Given the description of an element on the screen output the (x, y) to click on. 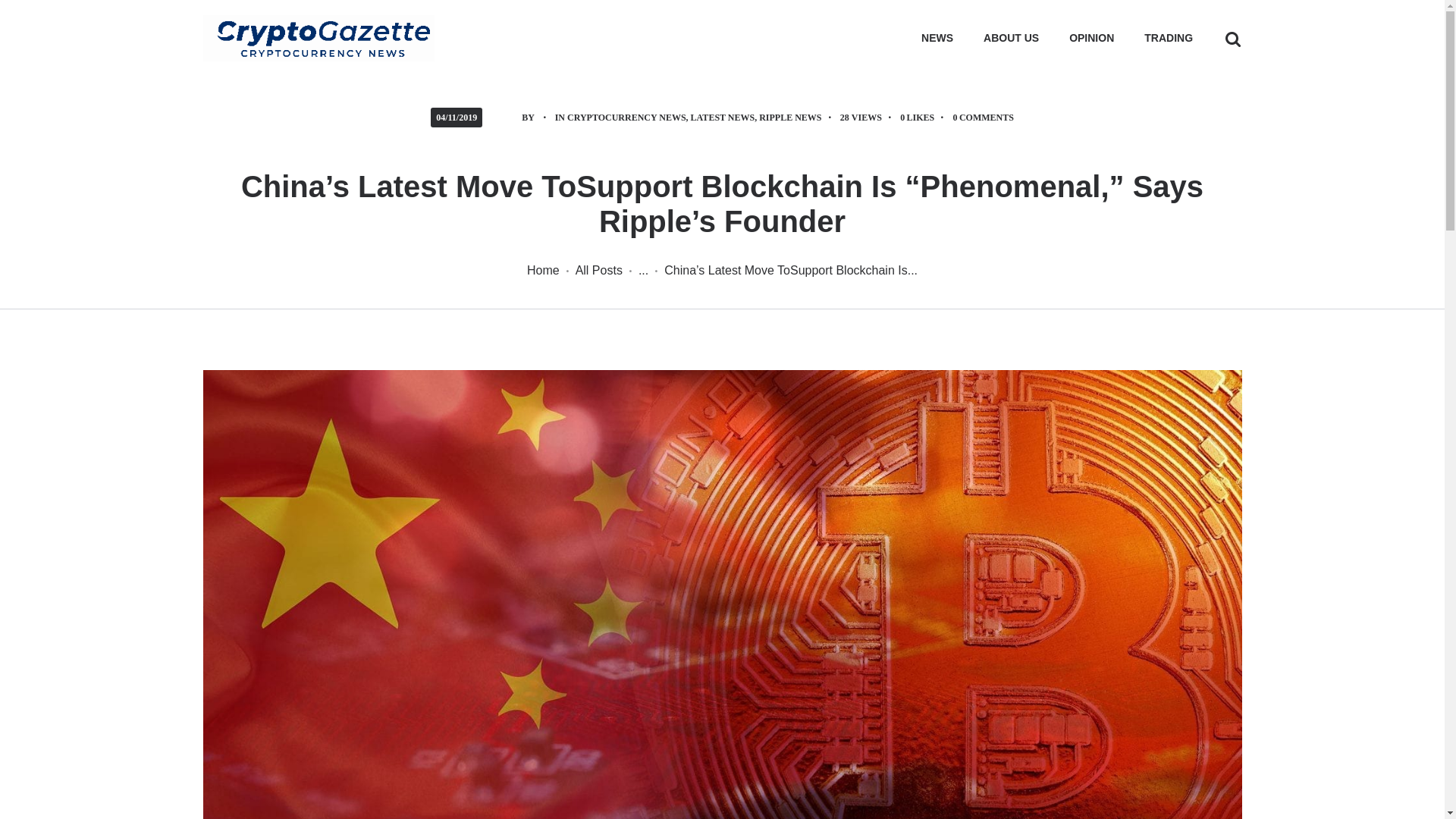
Home (543, 270)
NEWS (936, 38)
OPINION (1091, 38)
ABOUT US (1011, 38)
Like (924, 117)
LATEST NEWS (722, 117)
0COMMENTS (982, 117)
0LIKES (924, 117)
All Posts (599, 269)
TRADING (1168, 38)
RIPPLE NEWS (789, 117)
CRYPTOCURRENCY NEWS (626, 117)
